Given the description of an element on the screen output the (x, y) to click on. 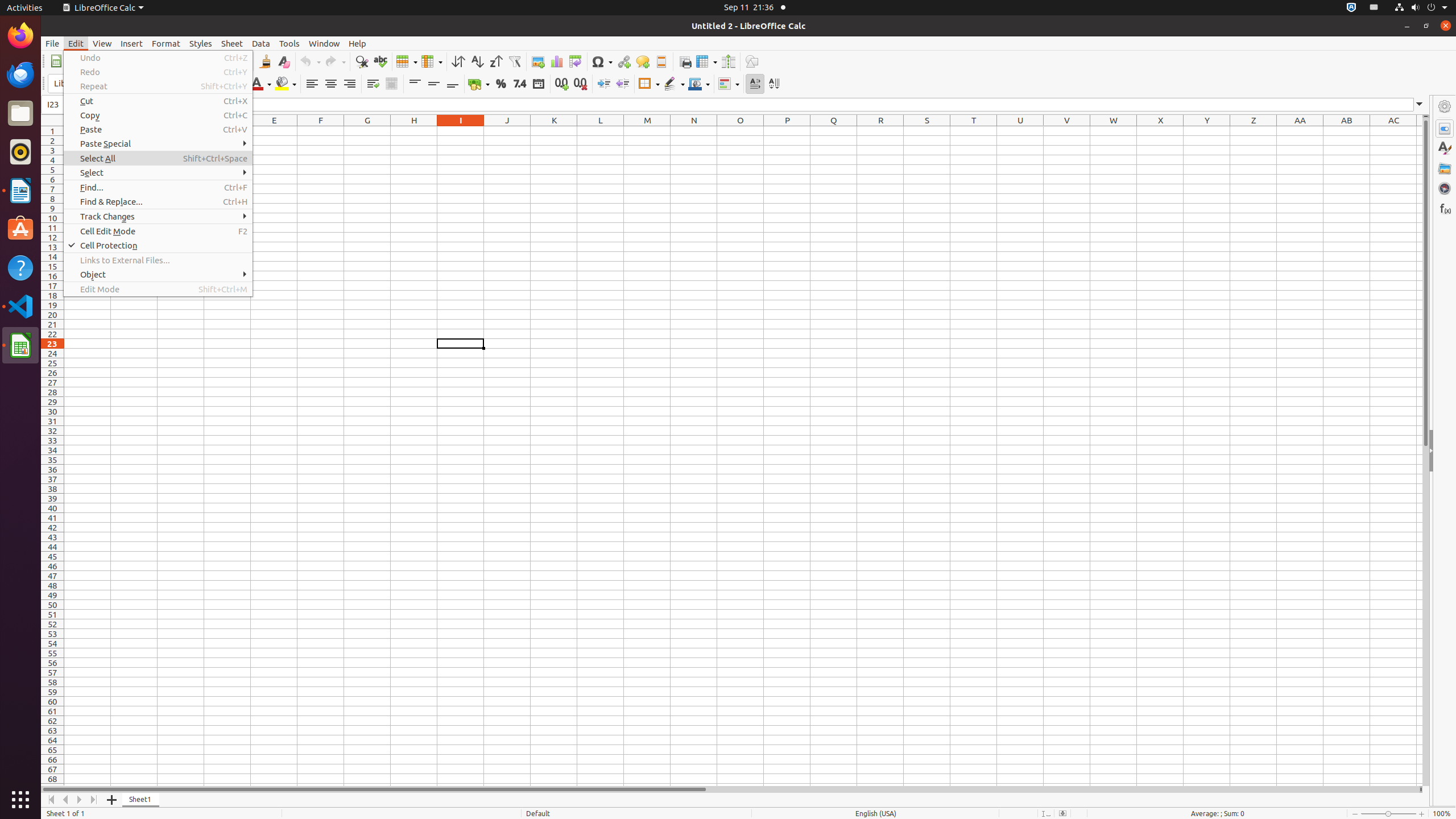
Horizontal scroll bar Element type: scroll-bar (729, 789)
Delete Decimal Place Element type: push-button (580, 83)
T1 Element type: table-cell (973, 130)
Redo Element type: menu-item (157, 71)
P1 Element type: table-cell (786, 130)
